Given the description of an element on the screen output the (x, y) to click on. 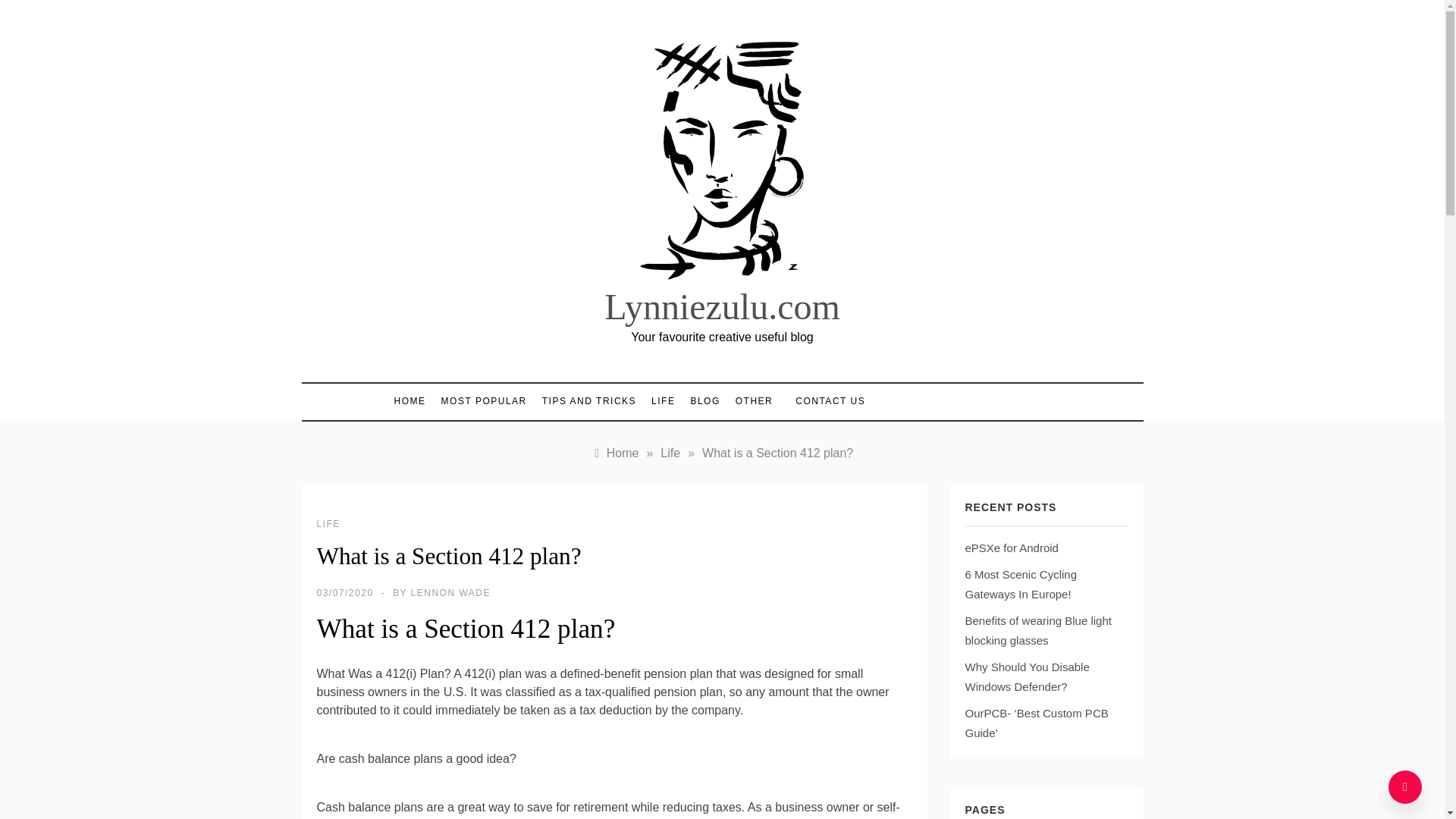
Life (670, 452)
BLOG (704, 401)
Why Should You Disable Windows Defender? (1026, 676)
Lynniezulu.com (722, 306)
CONTACT US (822, 400)
ePSXe for Android (1010, 547)
Home (615, 452)
OTHER (754, 401)
MOST POPULAR (483, 401)
LENNON WADE (450, 593)
6 Most Scenic Cycling Gateways In Europe! (1020, 584)
Benefits of wearing Blue light blocking glasses (1036, 630)
What is a Section 412 plan? (777, 452)
HOME (413, 401)
TIPS AND TRICKS (588, 401)
